Given the description of an element on the screen output the (x, y) to click on. 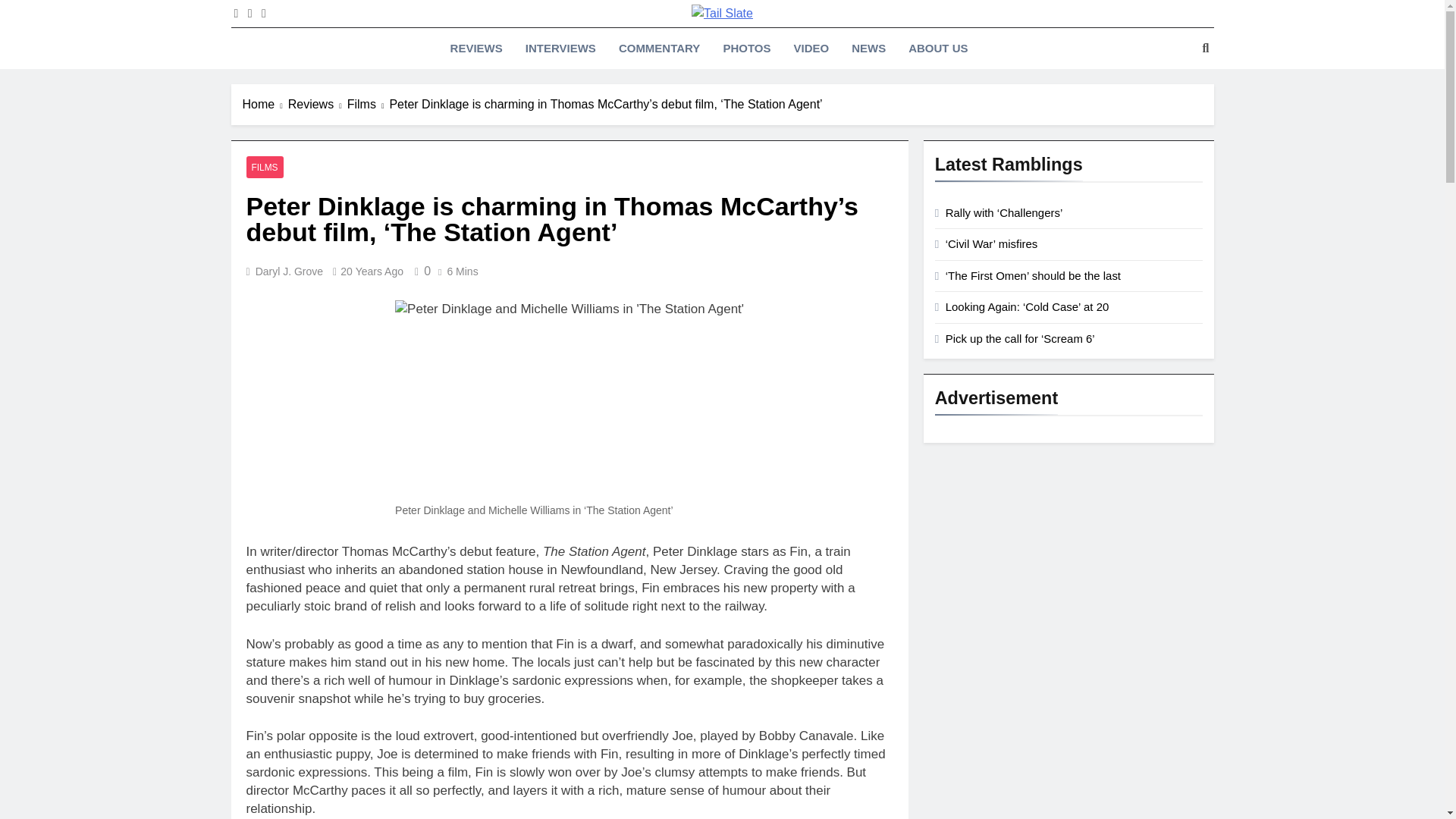
INTERVIEWS (560, 47)
COMMENTARY (659, 47)
Tail Slate (548, 39)
ABOUT US (937, 47)
Home (265, 104)
REVIEWS (476, 47)
VIDEO (810, 47)
FILMS (264, 167)
PHOTOS (746, 47)
NEWS (868, 47)
Films (368, 104)
Daryl J. Grove (289, 271)
Reviews (317, 104)
20 Years Ago (371, 271)
0 (419, 270)
